Given the description of an element on the screen output the (x, y) to click on. 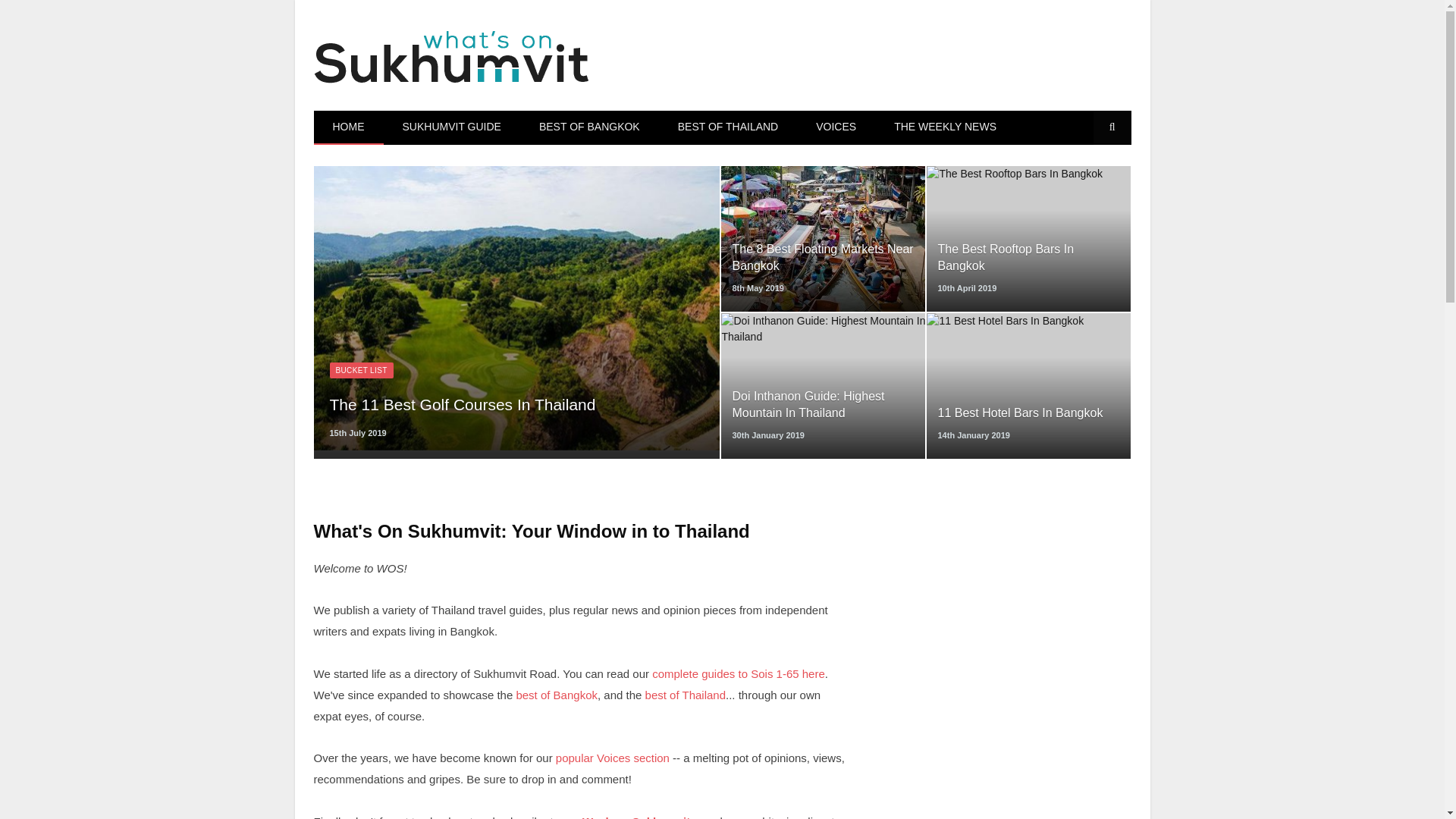
11 Best Hotel Bars In Bangkok (1019, 413)
BEST OF BANGKOK (589, 127)
Search (1112, 127)
complete guides to Sois 1-65 here (738, 673)
SUKHUMVIT GUIDE (451, 127)
The 8 Best Floating Markets Near Bangkok (823, 257)
Week on Sukhumvit (636, 816)
The Best Rooftop Bars In Bangkok (1029, 257)
HOME (349, 127)
Doi Inthanon Guide: Highest Mountain In Thailand (823, 405)
